Given the description of an element on the screen output the (x, y) to click on. 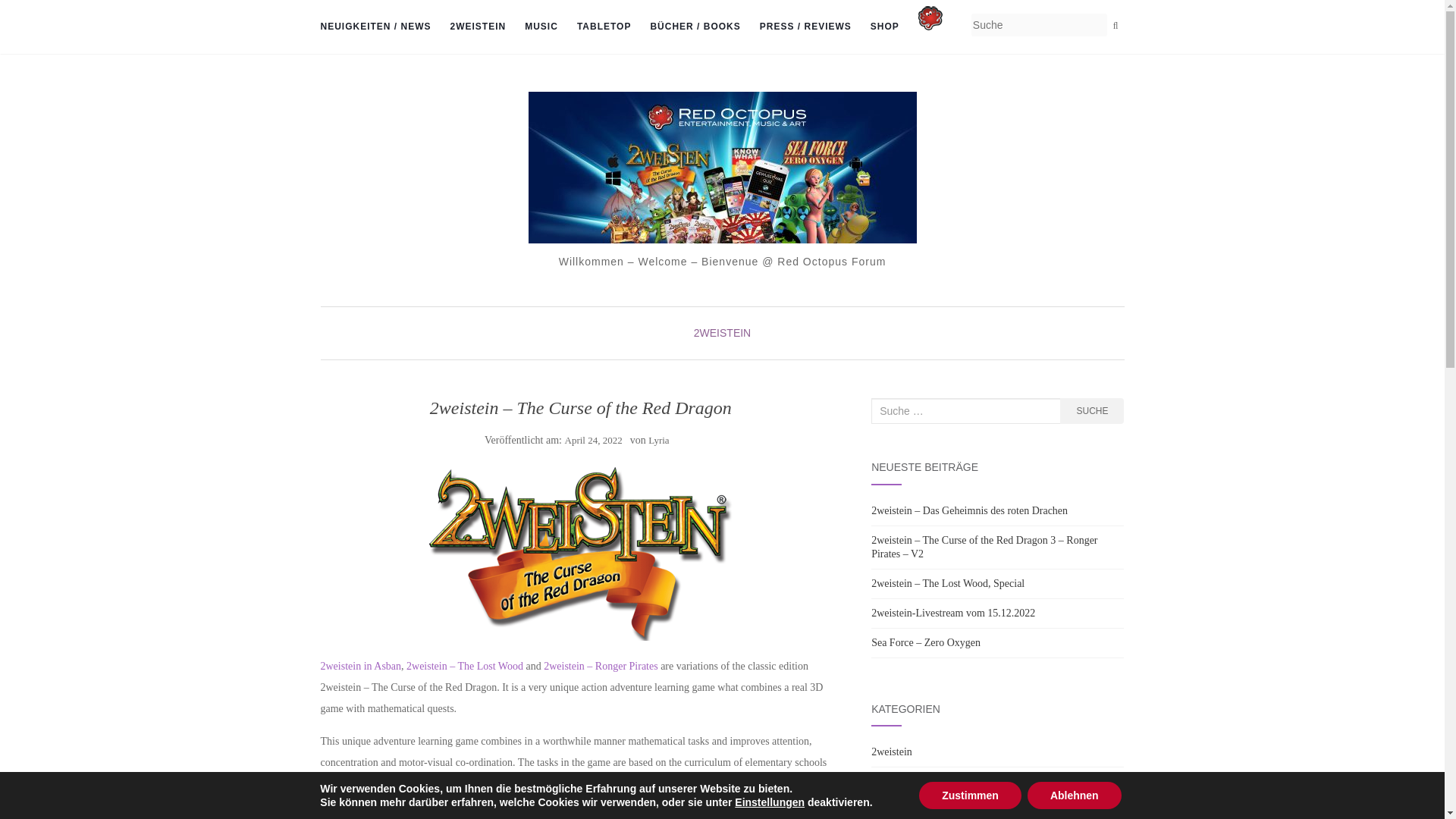
2weistein in Asban (360, 665)
2WEISTEIN (722, 332)
2weistein-Livestream vom 15.12.2022 (952, 613)
SUCHE (1091, 411)
Suche nach: (965, 411)
TABLETOP (603, 27)
Lyria (657, 439)
2WEISTEIN (477, 27)
2weistein (477, 27)
April 24, 2022 (592, 439)
